Given the description of an element on the screen output the (x, y) to click on. 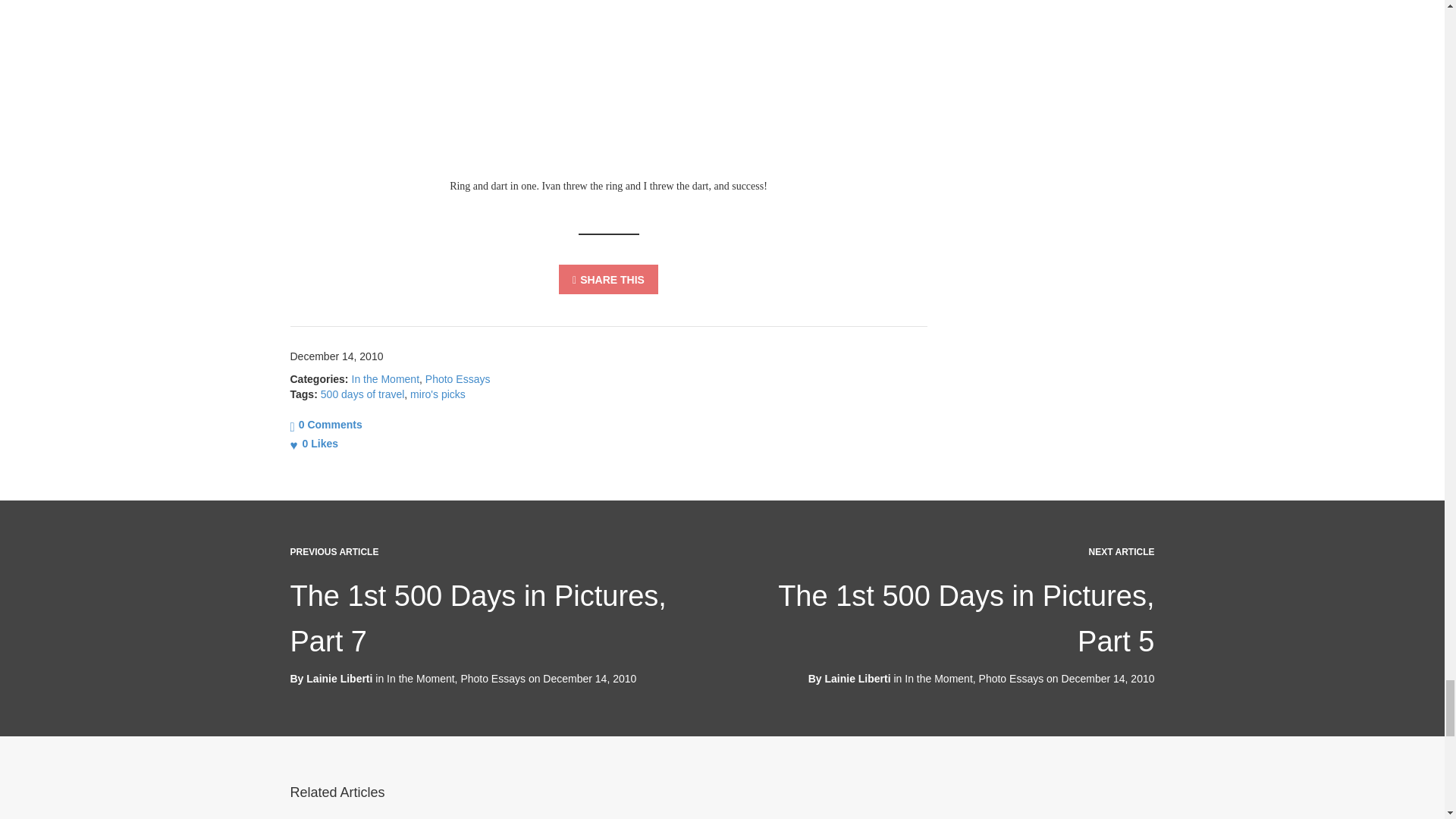
0 Comments (325, 424)
